Given the description of an element on the screen output the (x, y) to click on. 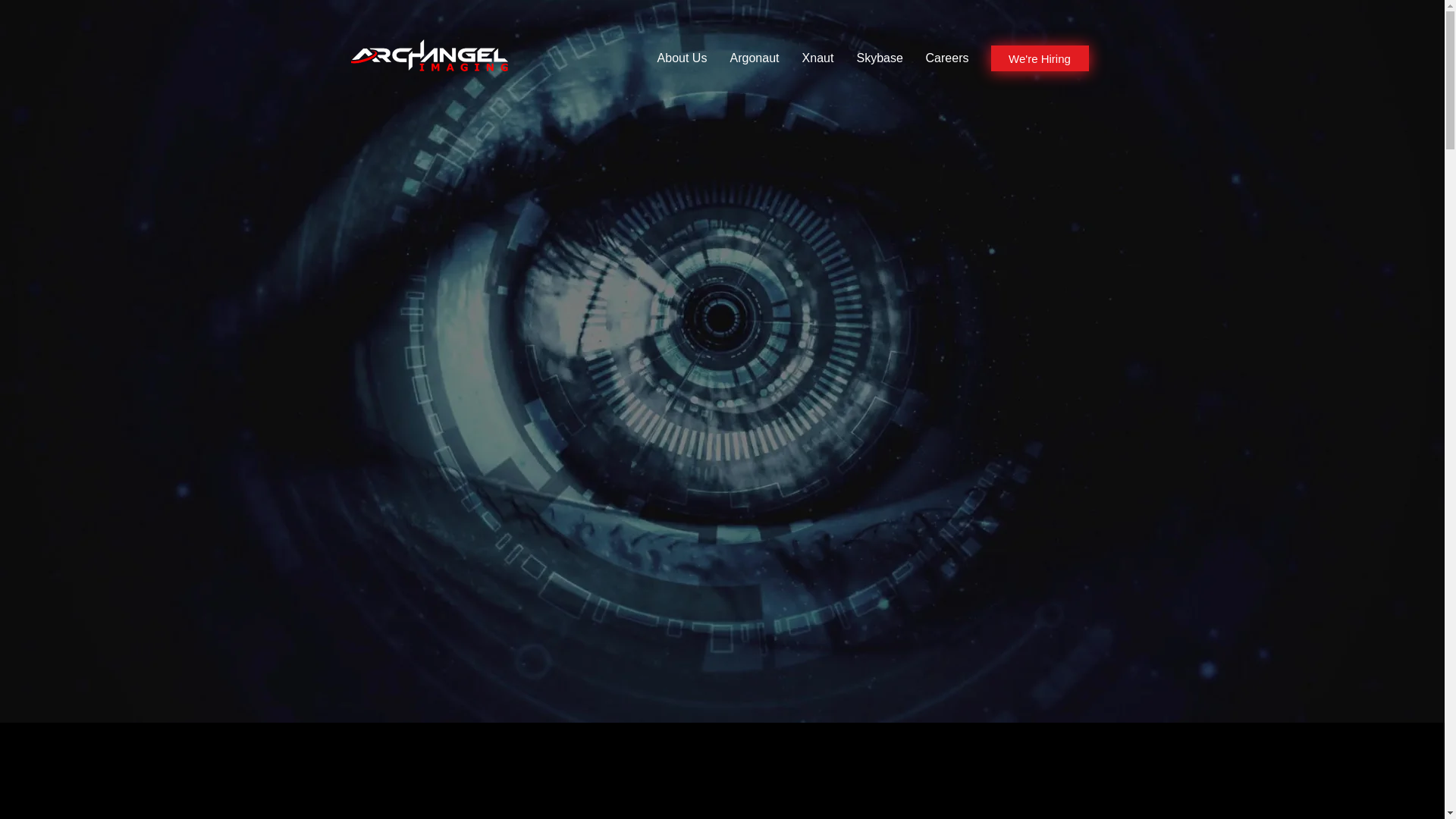
About Us (682, 58)
Argonaut (754, 58)
We're Hiring (1038, 58)
Skybase (879, 58)
Careers (946, 58)
Xnaut (817, 58)
